Given the description of an element on the screen output the (x, y) to click on. 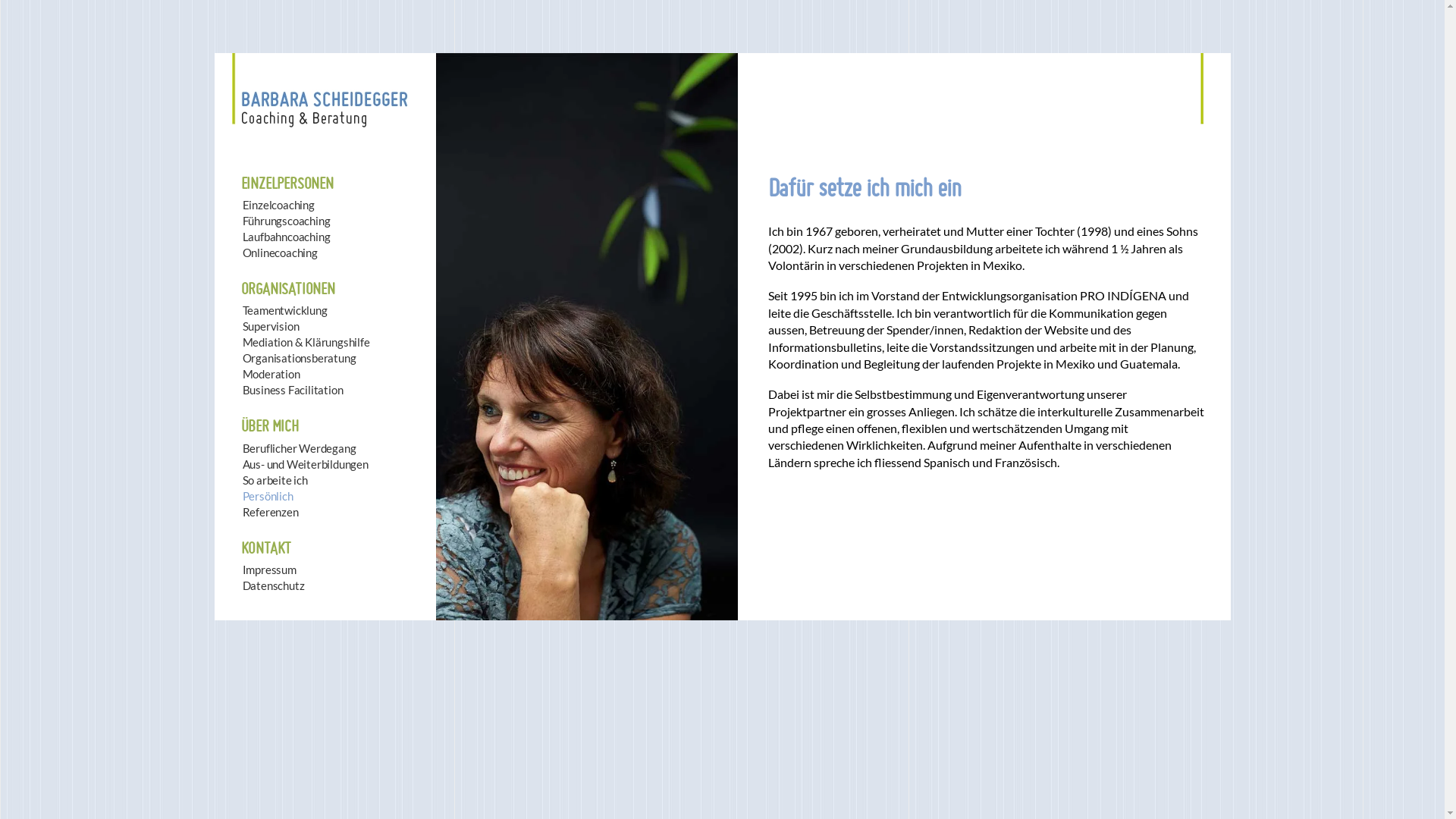
Teamentwicklung Element type: text (392, 310)
Organisationsberatung Element type: text (392, 358)
Impressum Element type: text (392, 569)
KONTAKT Element type: text (391, 547)
Moderation Element type: text (392, 374)
Onlinecoaching Element type: text (392, 252)
So arbeite ich Element type: text (392, 480)
Aus- und Weiterbildungen Element type: text (392, 464)
ORGANISATIONEN Element type: text (391, 288)
Business Facilitation Element type: text (392, 390)
Einzelcoaching Element type: text (392, 205)
Beruflicher Werdegang Element type: text (392, 448)
Supervision Element type: text (392, 326)
Laufbahncoaching Element type: text (392, 236)
EINZELPERSONEN Element type: text (391, 183)
Datenschutz Element type: text (392, 585)
Referenzen Element type: text (392, 512)
